Given the description of an element on the screen output the (x, y) to click on. 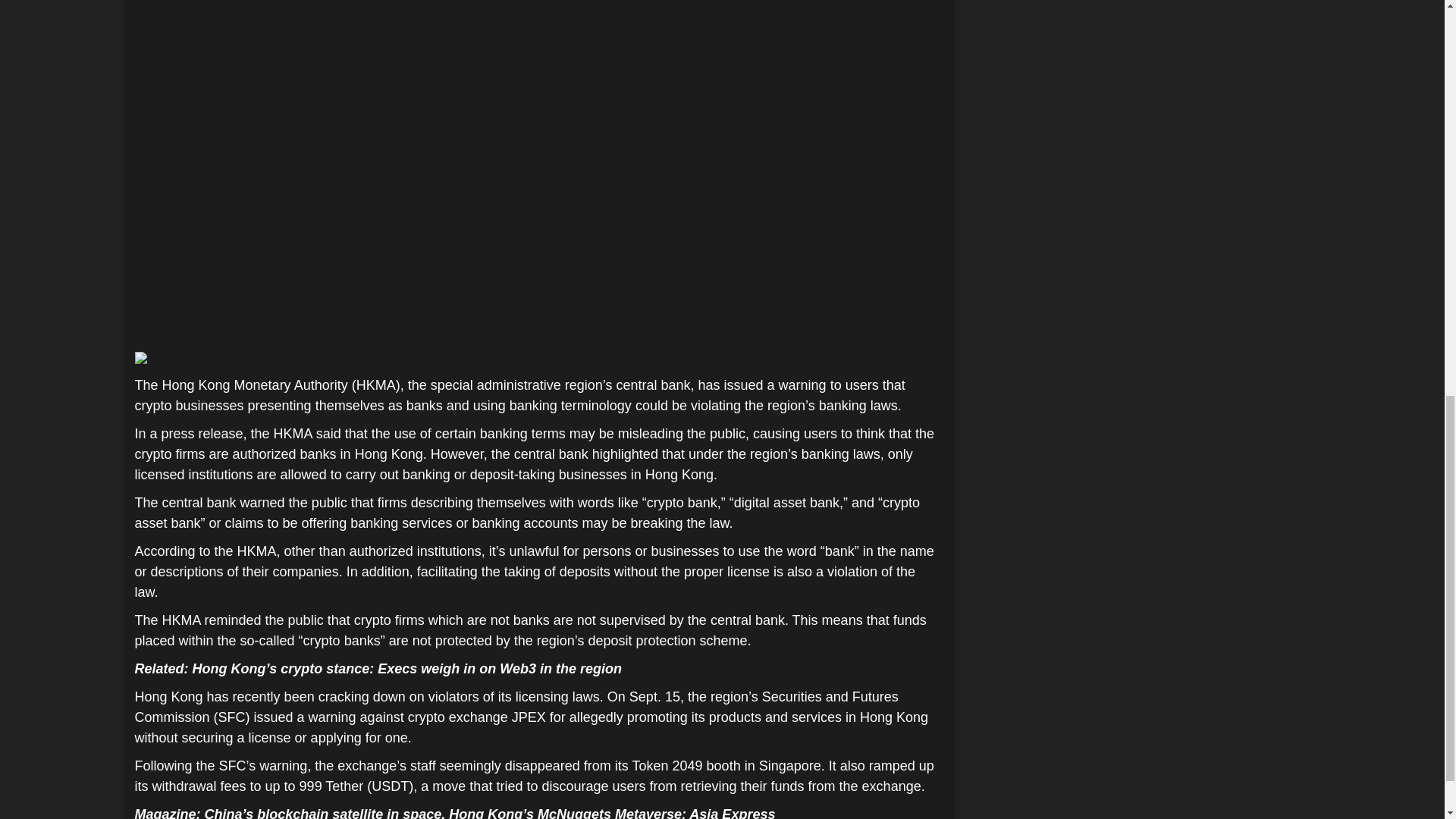
USDT (390, 785)
said (327, 433)
issued a warning (304, 717)
